Given the description of an element on the screen output the (x, y) to click on. 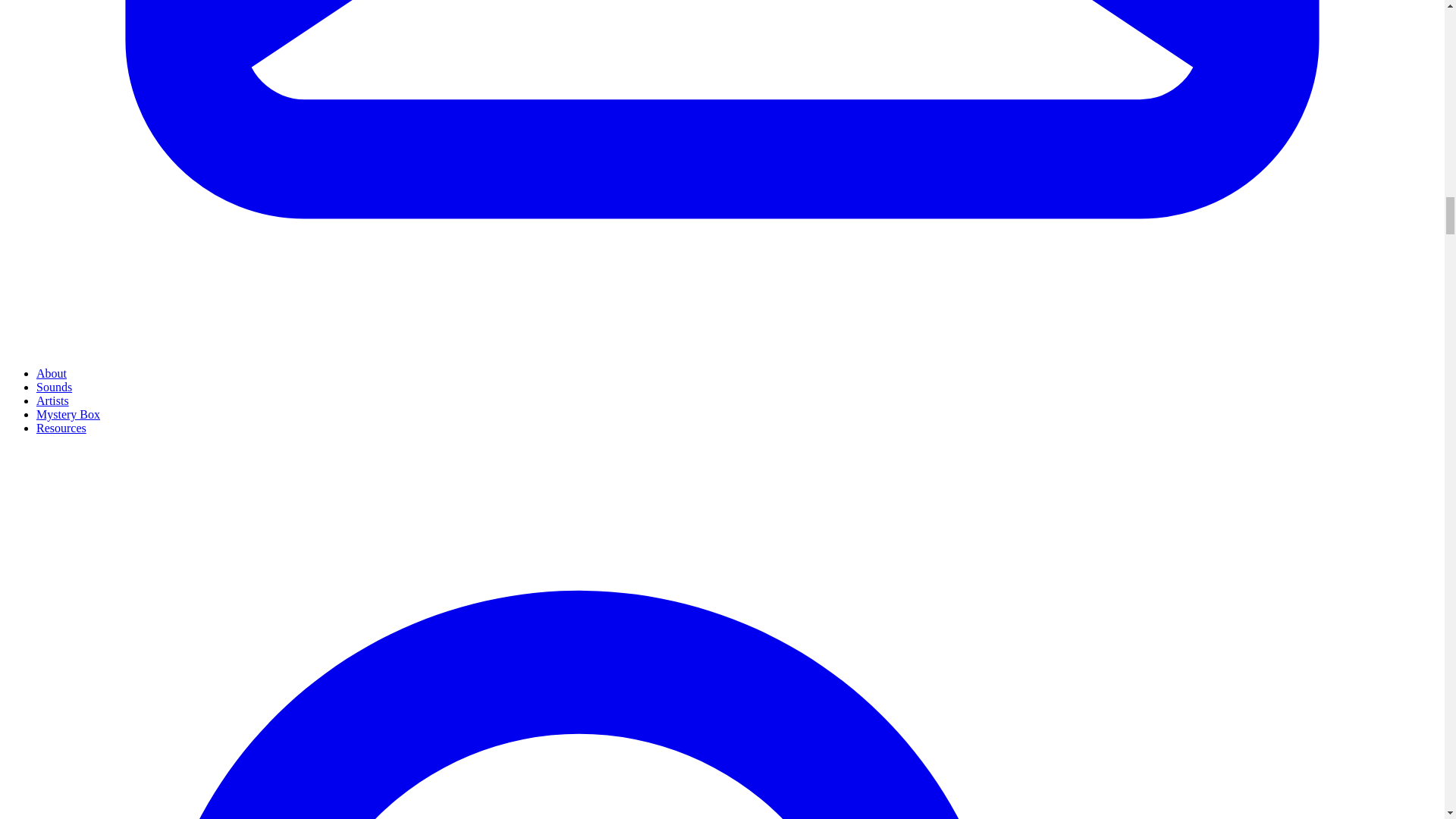
About (51, 373)
Resources (60, 427)
Sounds (53, 386)
Artists (52, 400)
Mystery Box (68, 413)
